Given the description of an element on the screen output the (x, y) to click on. 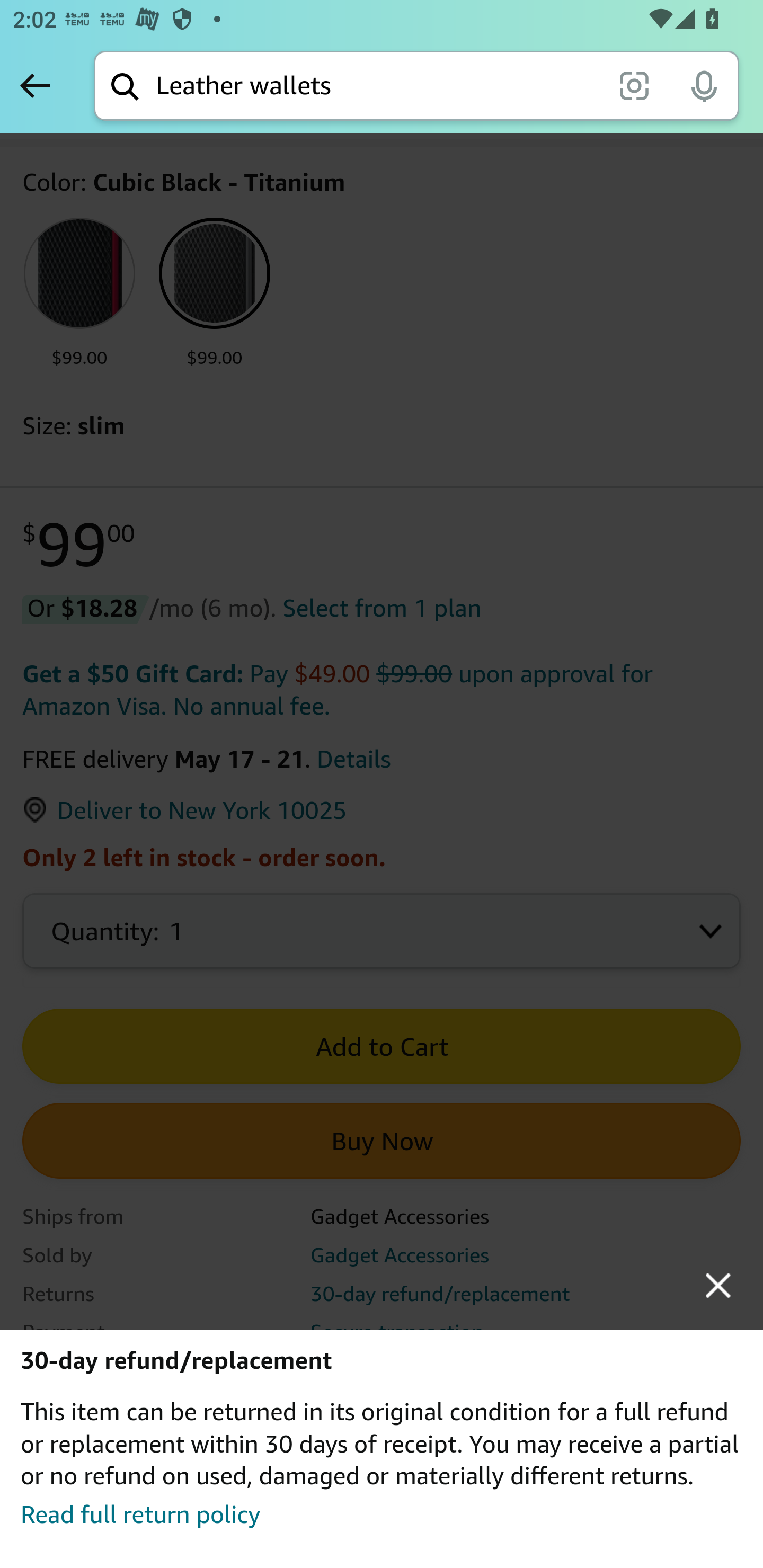
Back (35, 85)
scan it (633, 85)
close (717, 1285)
Read full return policy (140, 1514)
